Given the description of an element on the screen output the (x, y) to click on. 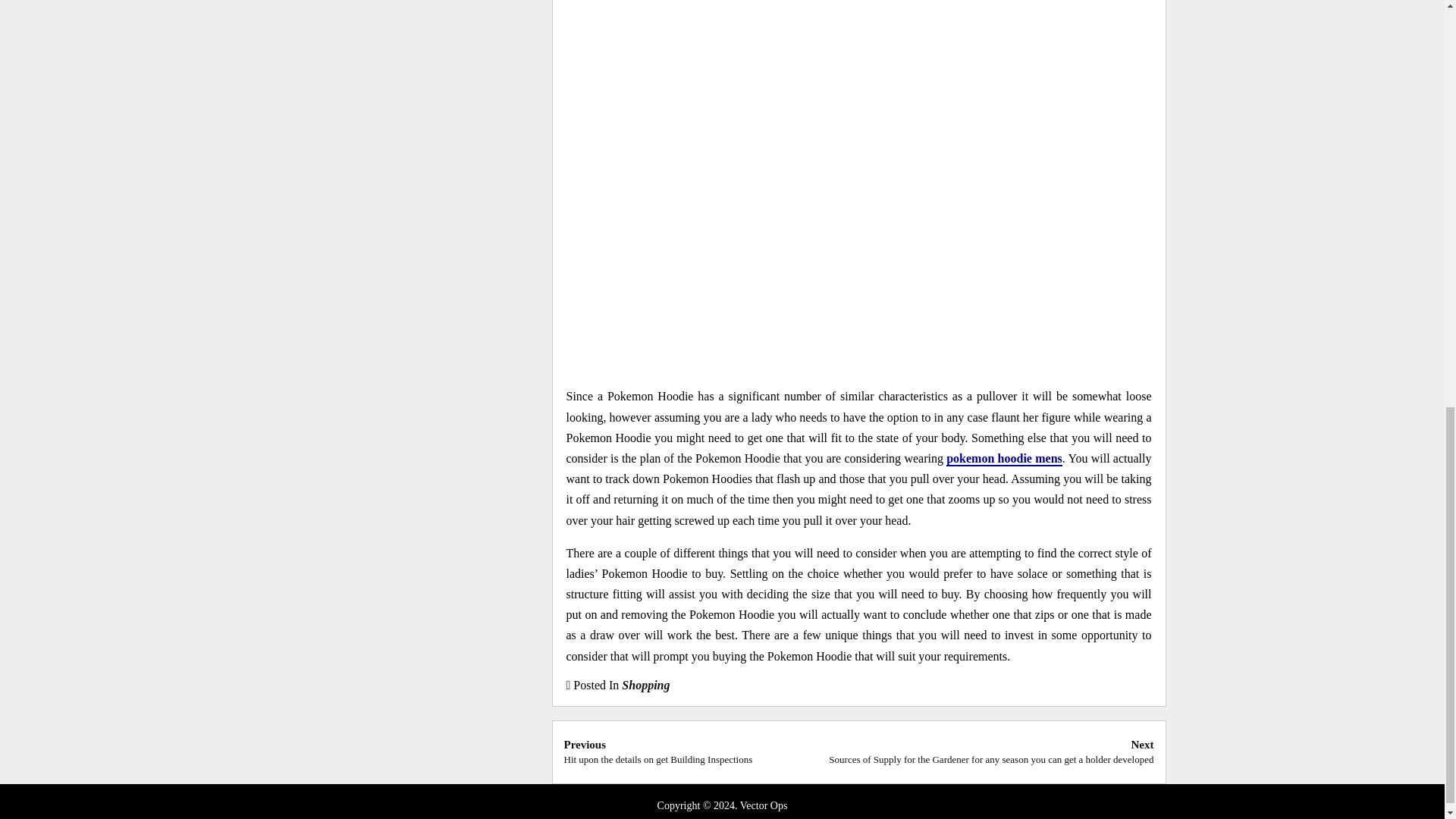
pokemon hoodie mens (658, 751)
Shopping (1004, 459)
Vector Ops (645, 684)
